Given the description of an element on the screen output the (x, y) to click on. 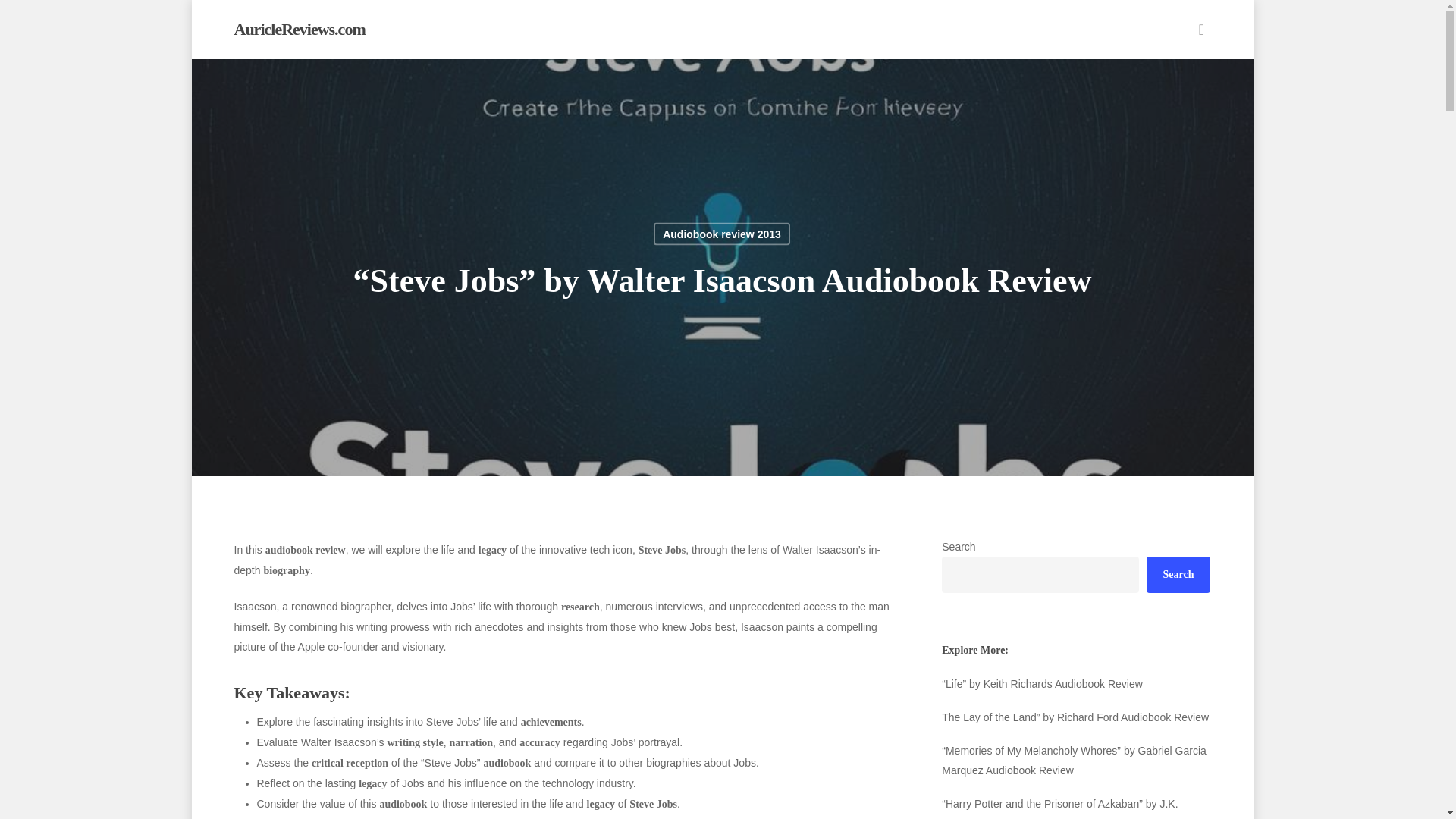
AuricleReviews.com (298, 29)
search (1200, 28)
Search (1179, 574)
Audiobook review 2013 (721, 233)
